Given the description of an element on the screen output the (x, y) to click on. 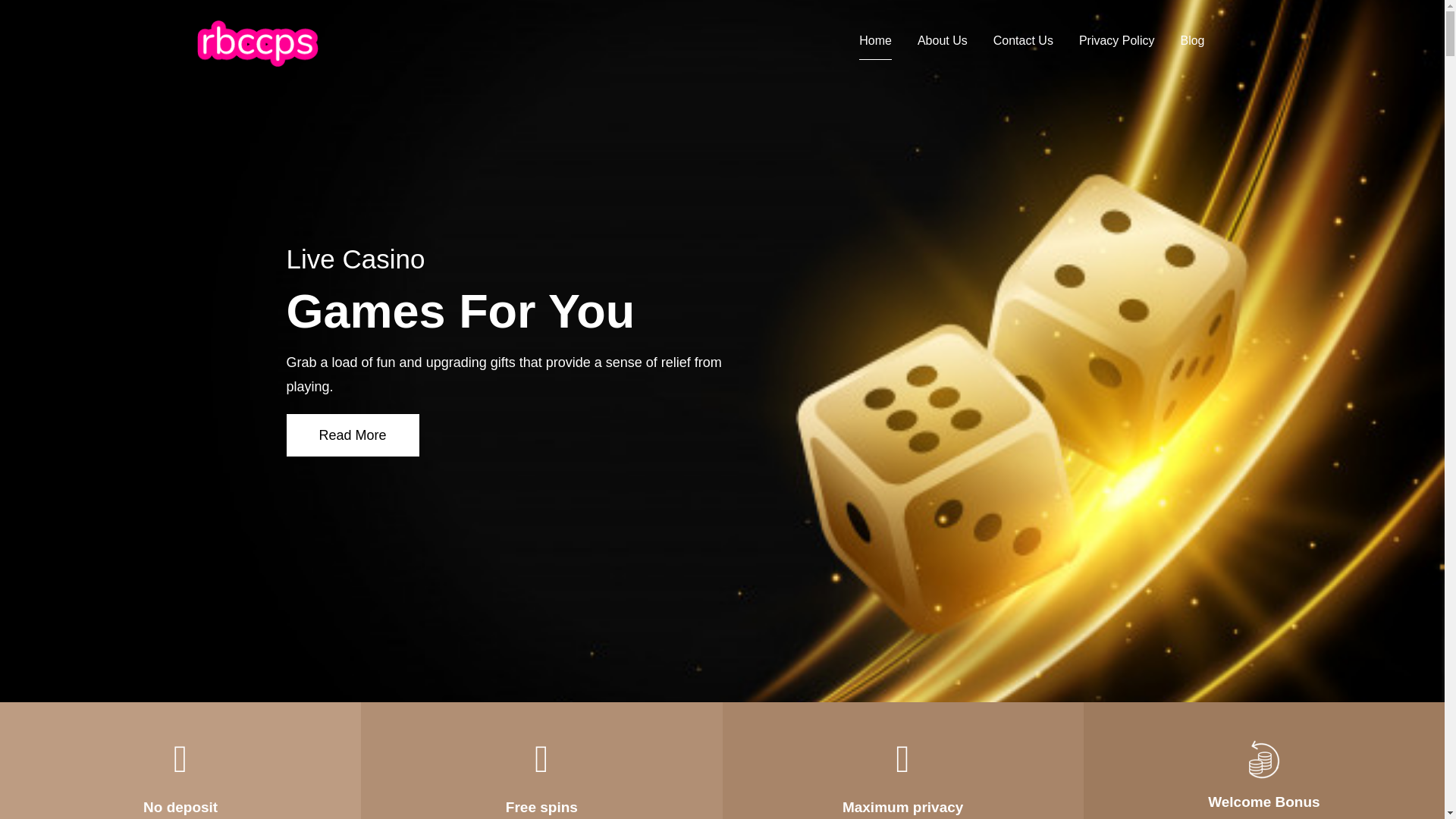
Read More (352, 435)
Contact Us (1022, 40)
About Us (942, 40)
Rbccps (382, 58)
Privacy Policy (1116, 40)
